Given the description of an element on the screen output the (x, y) to click on. 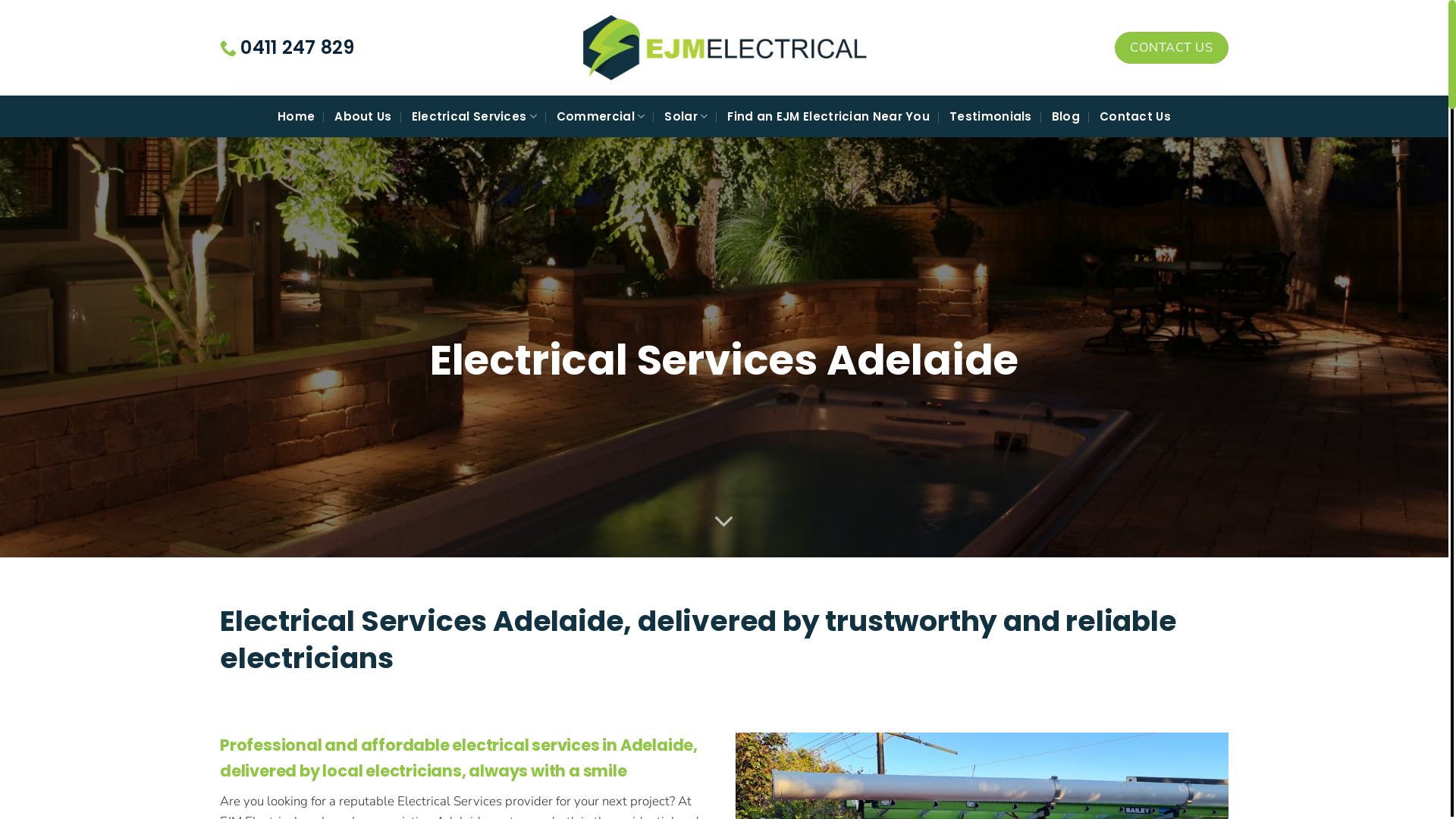
Electrical Services Element type: text (473, 116)
Blog Element type: text (1065, 116)
About Us Element type: text (362, 116)
Contact Us Element type: text (1134, 116)
Testimonials Element type: text (990, 116)
CONTACT US Element type: text (1171, 46)
Home Element type: text (295, 116)
Commercial Element type: text (600, 116)
0411 247 829 Element type: text (286, 47)
Find an EJM Electrician Near You Element type: text (828, 116)
Solar Element type: text (685, 116)
